Given the description of an element on the screen output the (x, y) to click on. 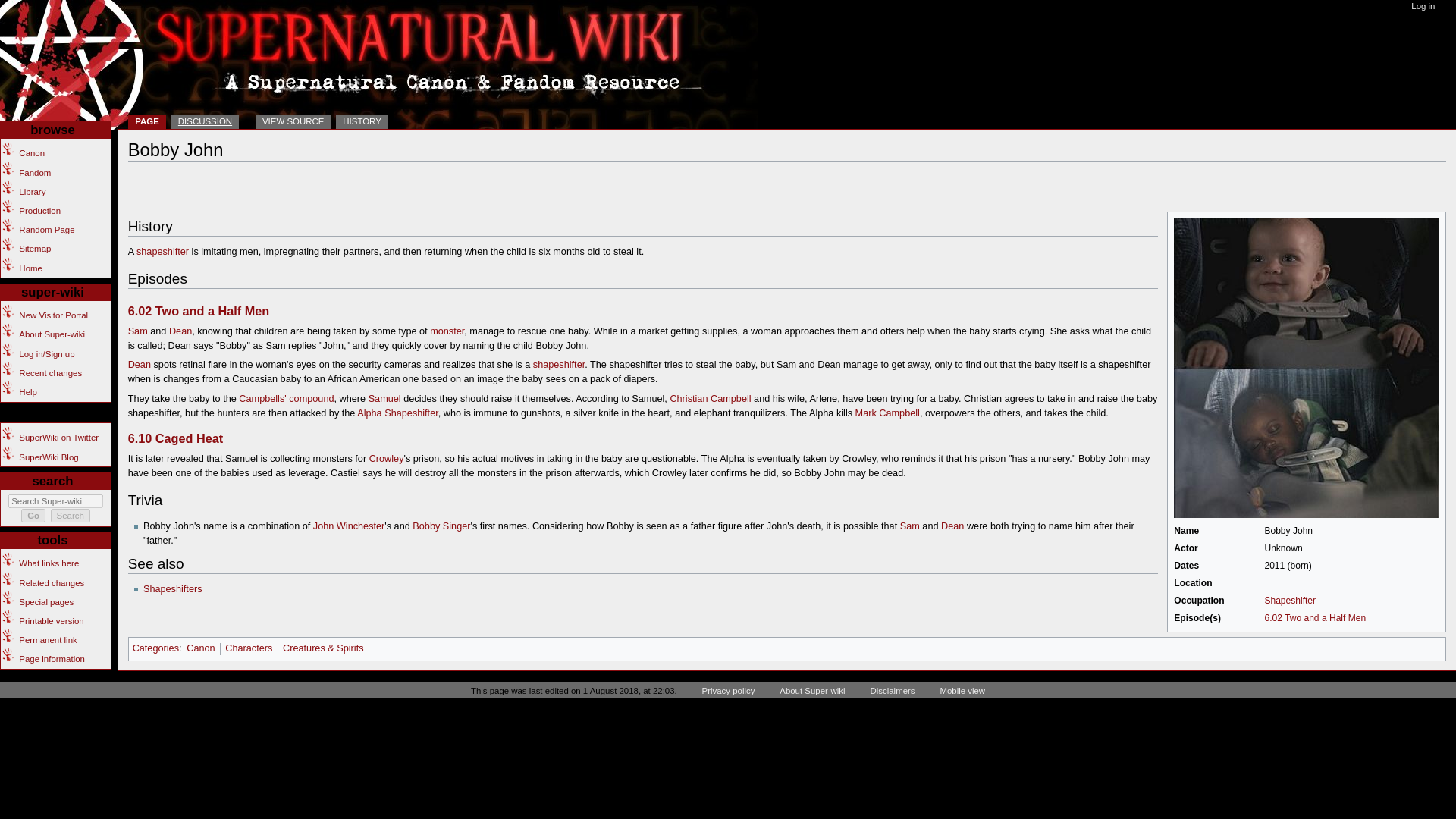
Characters (248, 647)
Crowley (386, 458)
Dean (180, 330)
Shapeshifter (1289, 600)
Shapeshifter (1289, 600)
John Winchester (349, 525)
6.02 Two and a Half Men (198, 310)
Alpha Shapeshifter (397, 412)
Shapeshifter (162, 251)
HISTORY (362, 122)
John Winchester (349, 525)
6.02 Two and a Half Men (198, 310)
Campbell Compound (310, 398)
Dean (139, 364)
Search (70, 515)
